Given the description of an element on the screen output the (x, y) to click on. 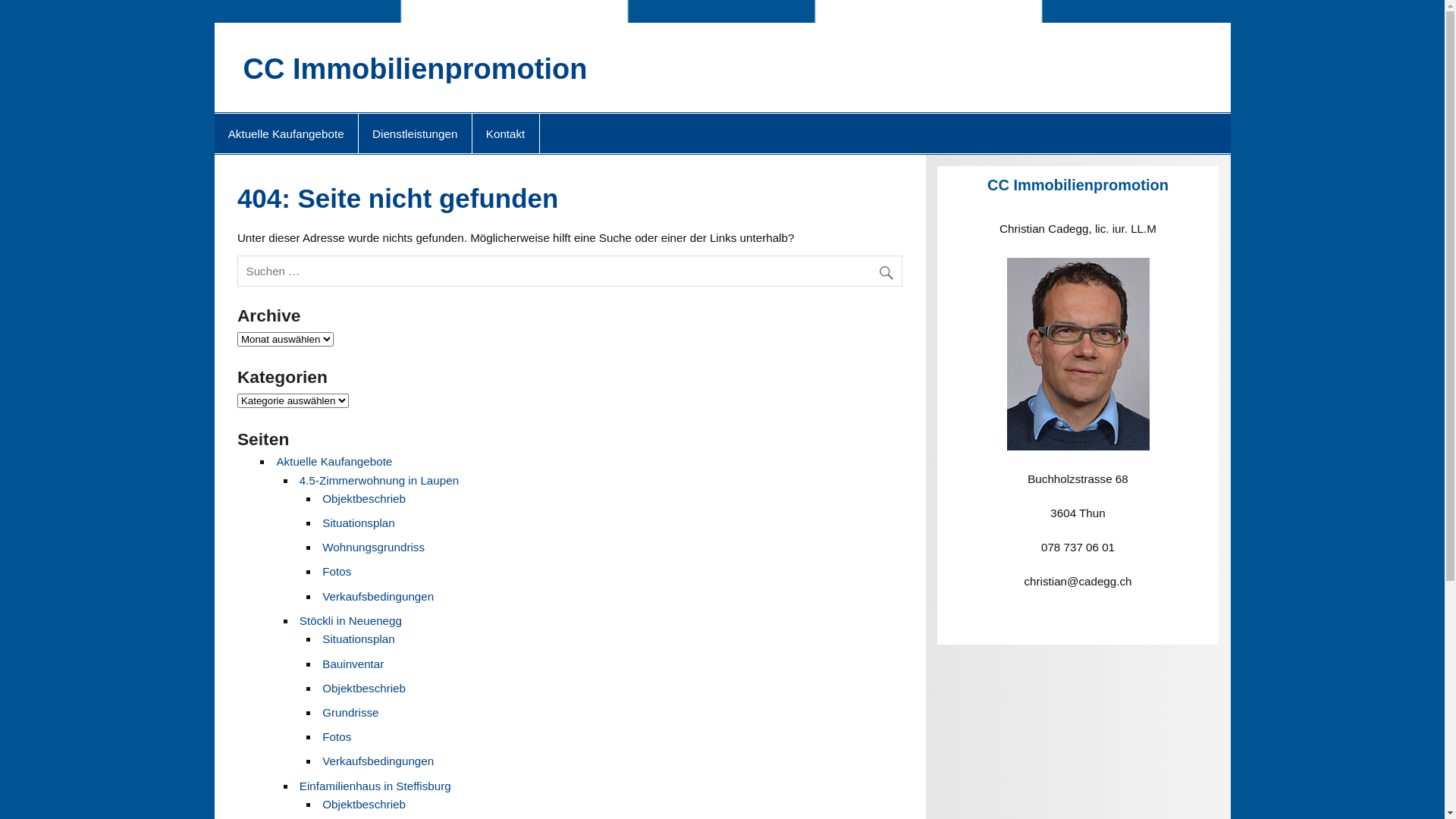
Einfamilienhaus in Steffisburg Element type: text (375, 785)
Kontakt Element type: text (505, 133)
Bauinventar Element type: text (352, 663)
Wohnungsgrundriss Element type: text (373, 546)
Objektbeschrieb Element type: text (363, 803)
Verkaufsbedingungen Element type: text (377, 595)
Situationsplan Element type: text (358, 522)
Grundrisse Element type: text (350, 712)
Aktuelle Kaufangebote Element type: text (285, 133)
4.5-Zimmerwohnung in Laupen Element type: text (378, 479)
CC Immobilienpromotion Element type: text (414, 68)
Fotos Element type: text (336, 570)
Objektbeschrieb Element type: text (363, 498)
Dienstleistungen Element type: text (414, 133)
Verkaufsbedingungen Element type: text (377, 760)
Objektbeschrieb Element type: text (363, 687)
Situationsplan Element type: text (358, 638)
Fotos Element type: text (336, 736)
Aktuelle Kaufangebote Element type: text (334, 461)
